Given the description of an element on the screen output the (x, y) to click on. 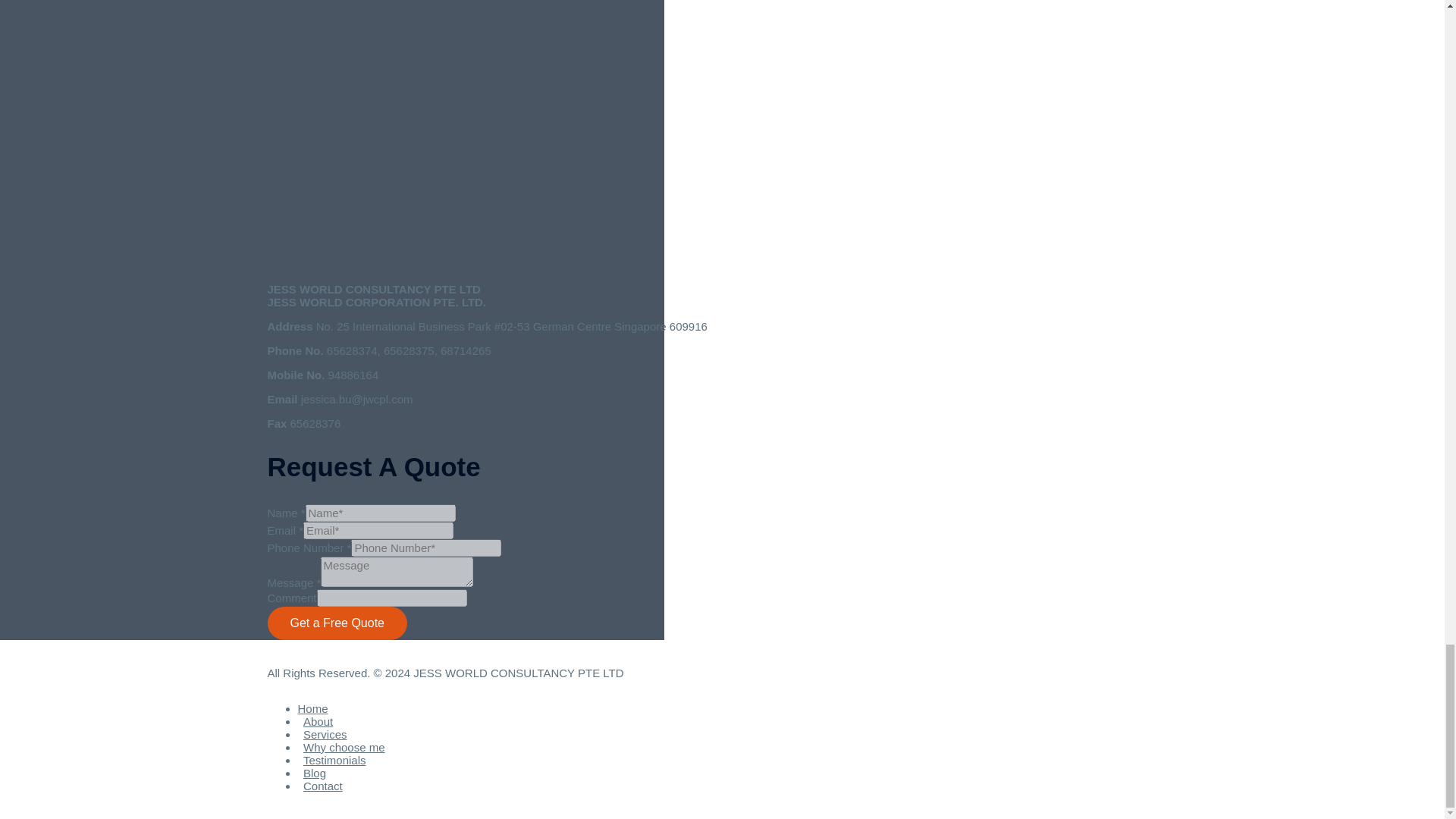
Home (315, 707)
Why choose me (343, 747)
Get a Free Quote (336, 622)
Contact (319, 785)
Services (324, 734)
Blog (314, 772)
Testimonials (334, 759)
About (317, 721)
